Given the description of an element on the screen output the (x, y) to click on. 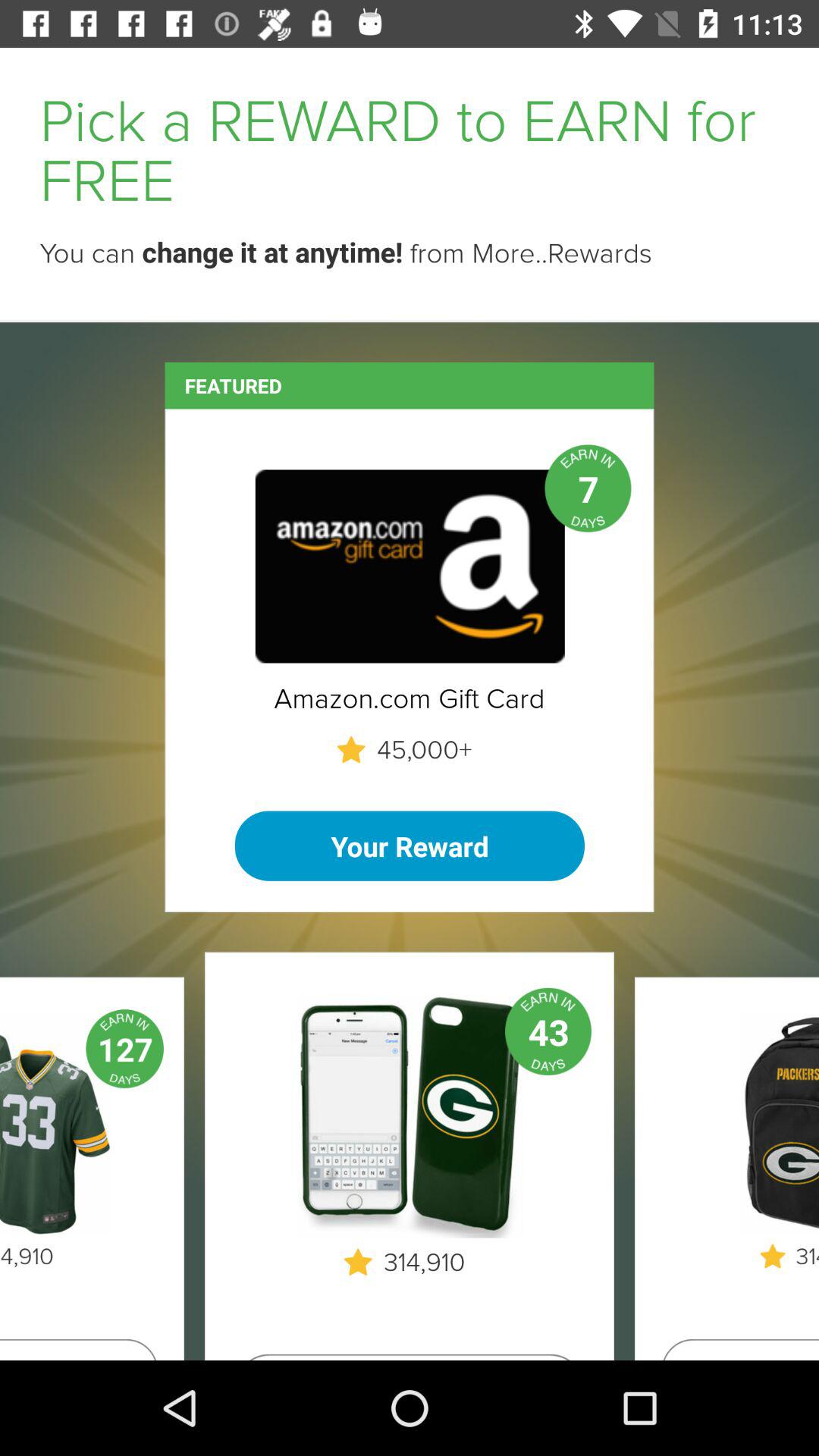
click on the earn in 7 days icon (588, 489)
click on the image at the centre bottom (409, 1115)
